Given the description of an element on the screen output the (x, y) to click on. 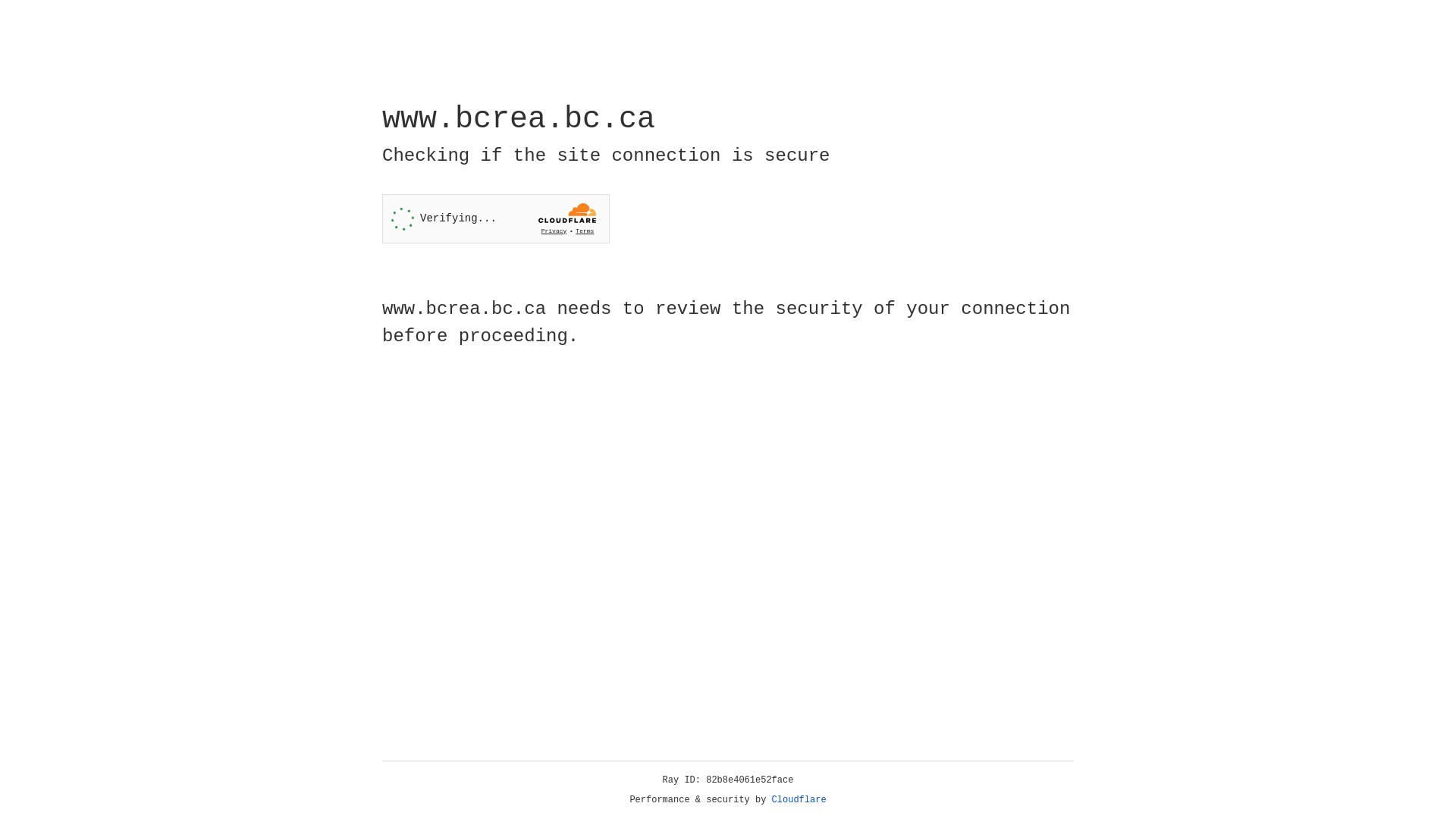
Cloudflare Element type: text (798, 799)
Widget containing a Cloudflare security challenge Element type: hover (495, 218)
